Given the description of an element on the screen output the (x, y) to click on. 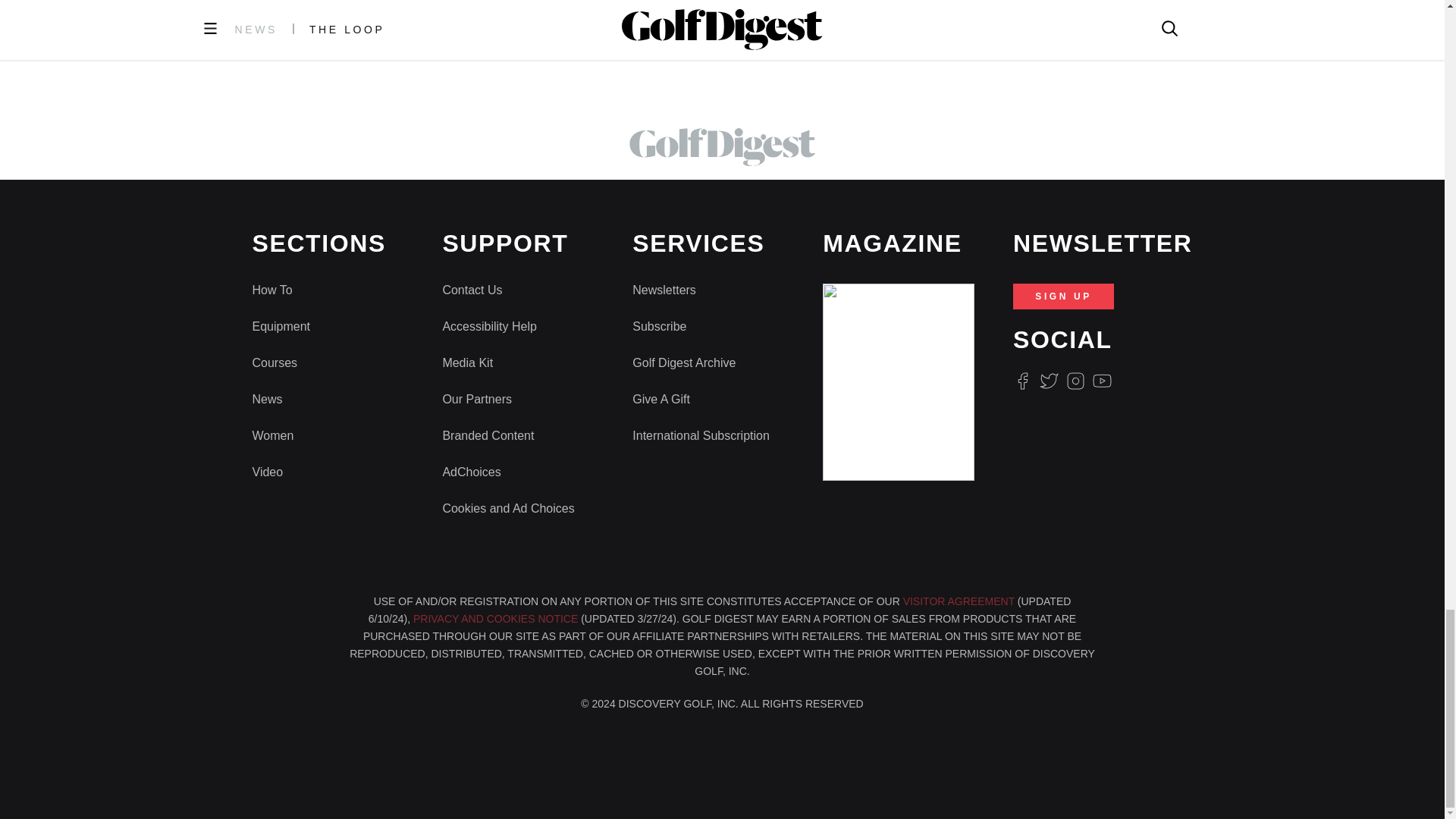
Youtube Icon (1102, 380)
Instagram Logo (1074, 380)
Twitter Logo (1048, 380)
Facebook Logo (1022, 380)
